Given the description of an element on the screen output the (x, y) to click on. 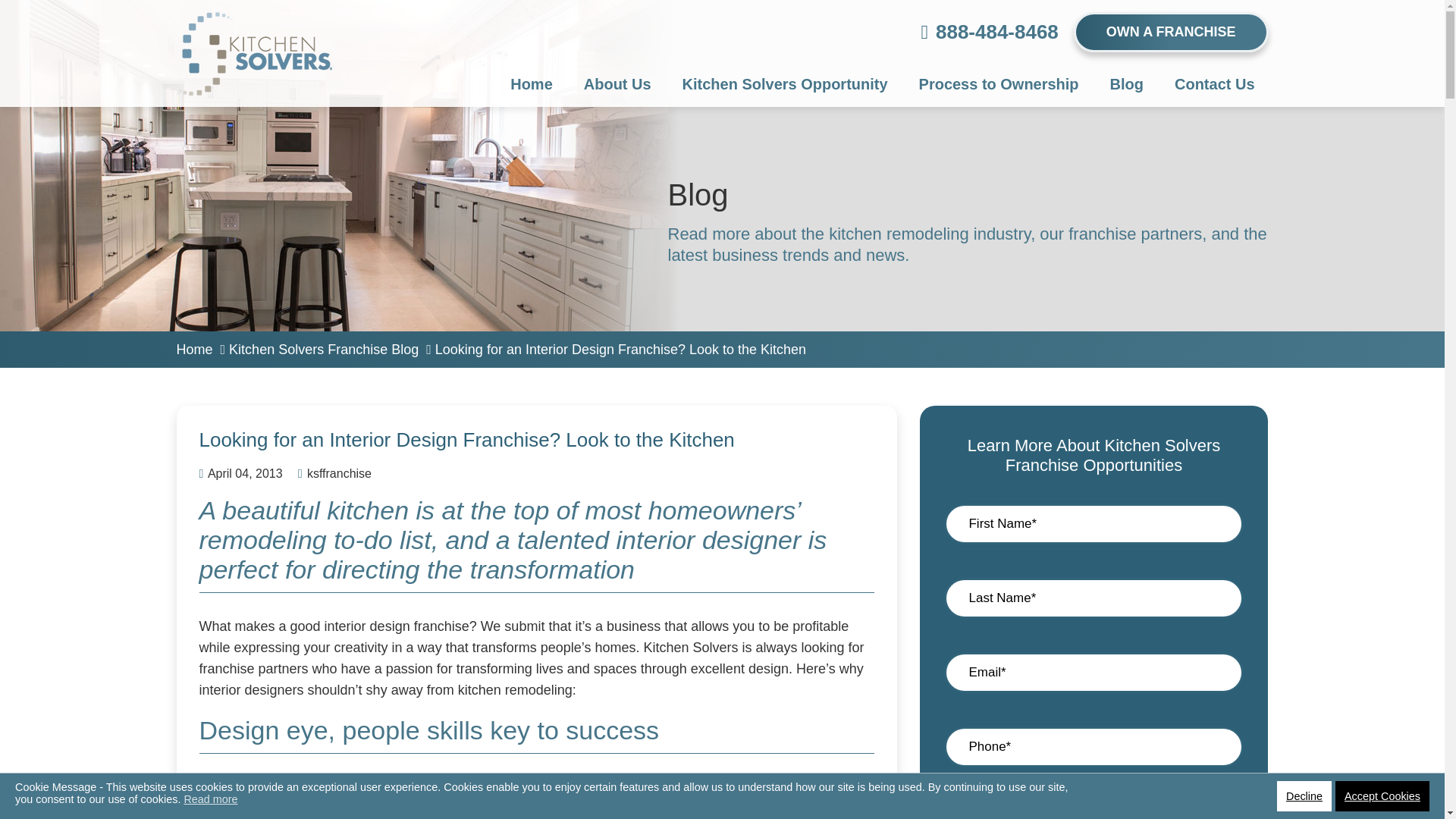
Blog (1126, 84)
Home (194, 349)
Decline (1304, 796)
Read more (210, 799)
Accept Cookies (1382, 796)
April 04, 2013 (240, 473)
OWN A FRANCHISE (1171, 32)
About Us (617, 84)
Kitchen Solvers Opportunity (784, 84)
Contact Us (1214, 84)
ksffranchise (334, 473)
Kitchen Solvers (253, 33)
Process to Ownership (999, 84)
888-484-8468 (997, 31)
Kitchen Solvers Franchise Blog (323, 349)
